Given the description of an element on the screen output the (x, y) to click on. 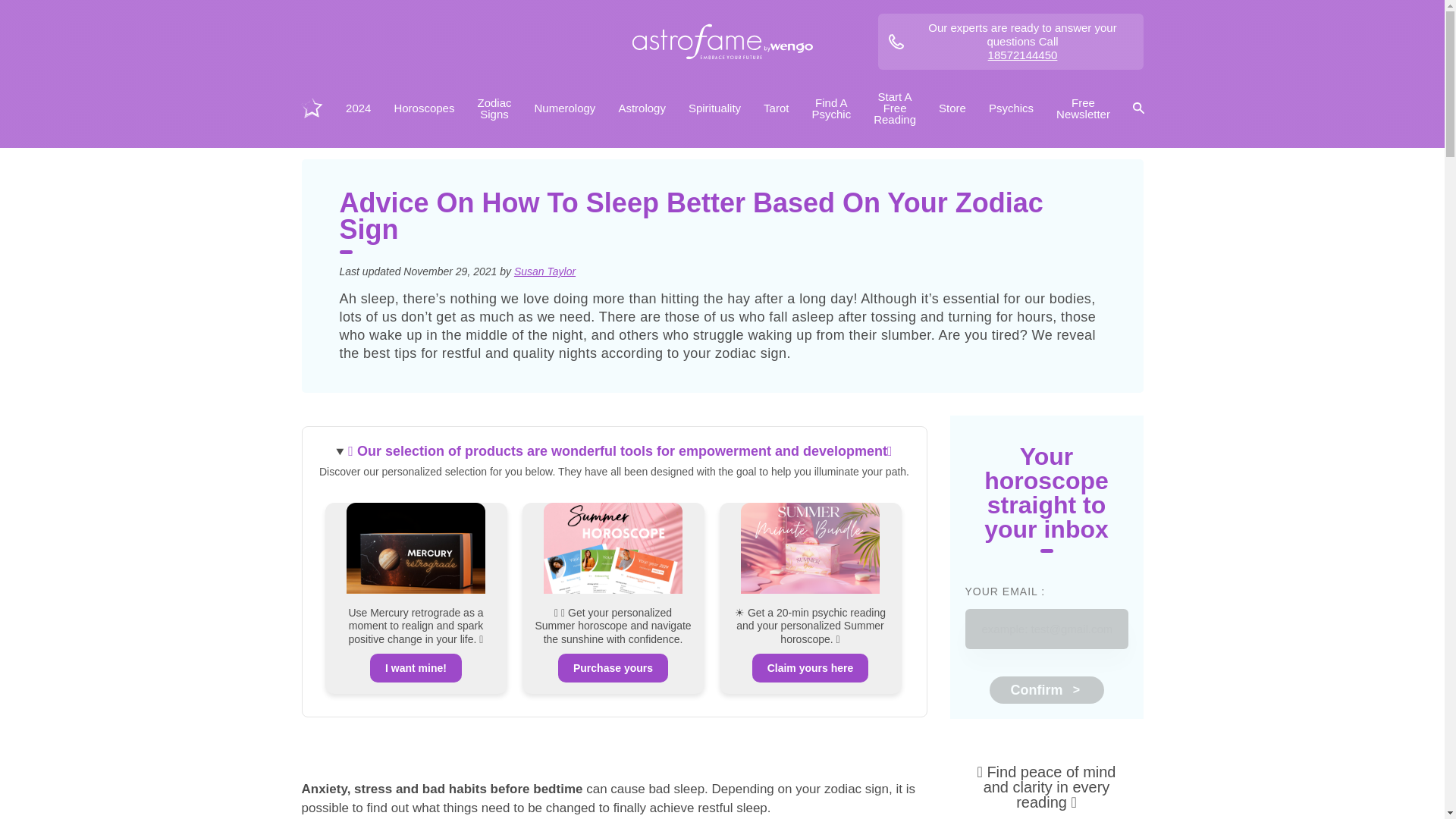
Search (1138, 108)
Zodiac Signs (493, 108)
Free Newsletter (1083, 108)
Horoscopes (423, 108)
Numerology (563, 108)
Free Newsletter (1083, 108)
Spirituality (714, 108)
Astrology (641, 108)
Find A Psychic (831, 108)
